Given the description of an element on the screen output the (x, y) to click on. 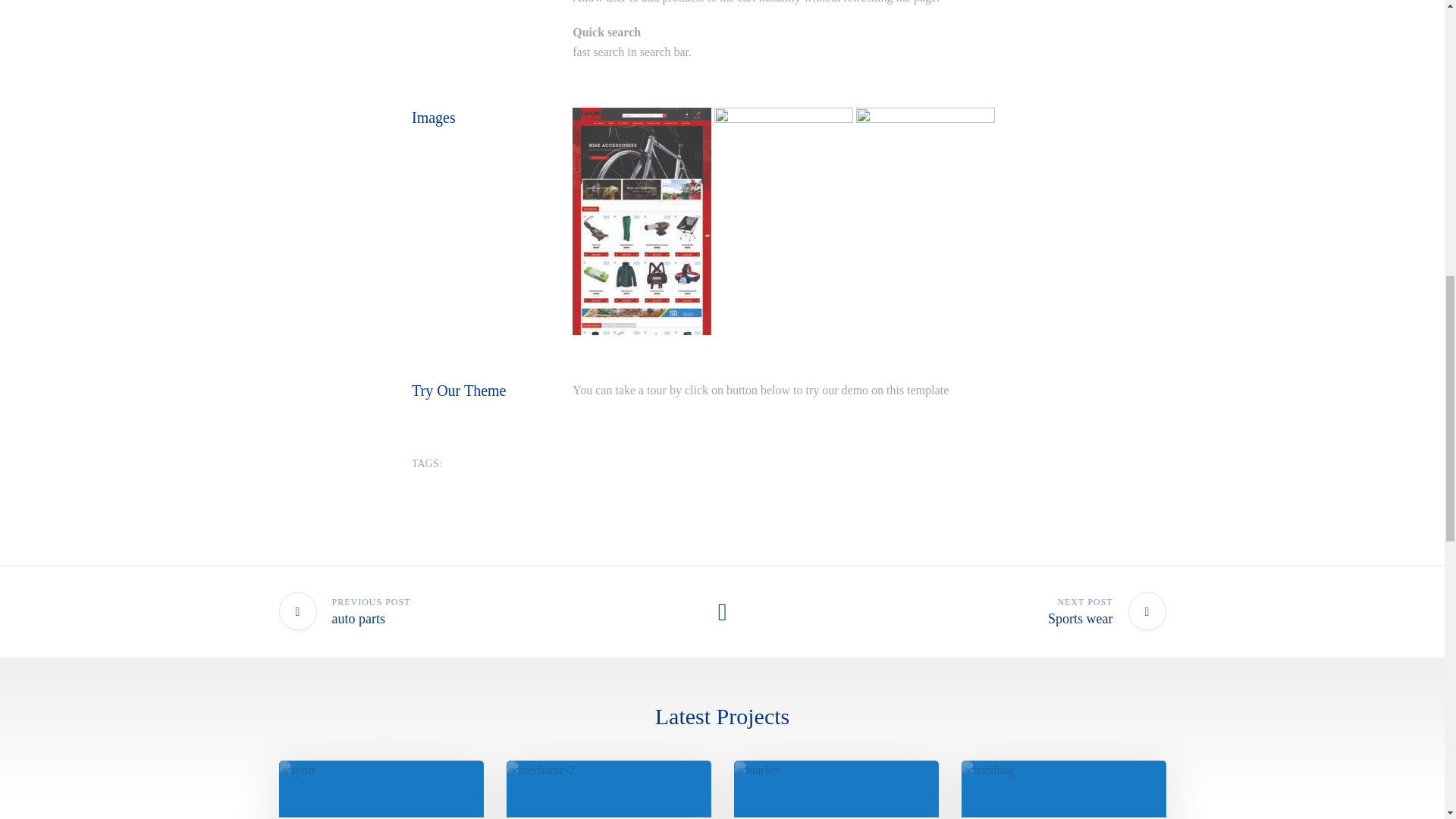
handbag (974, 610)
mechanic-2 (987, 770)
market (540, 770)
sport (470, 610)
